Given the description of an element on the screen output the (x, y) to click on. 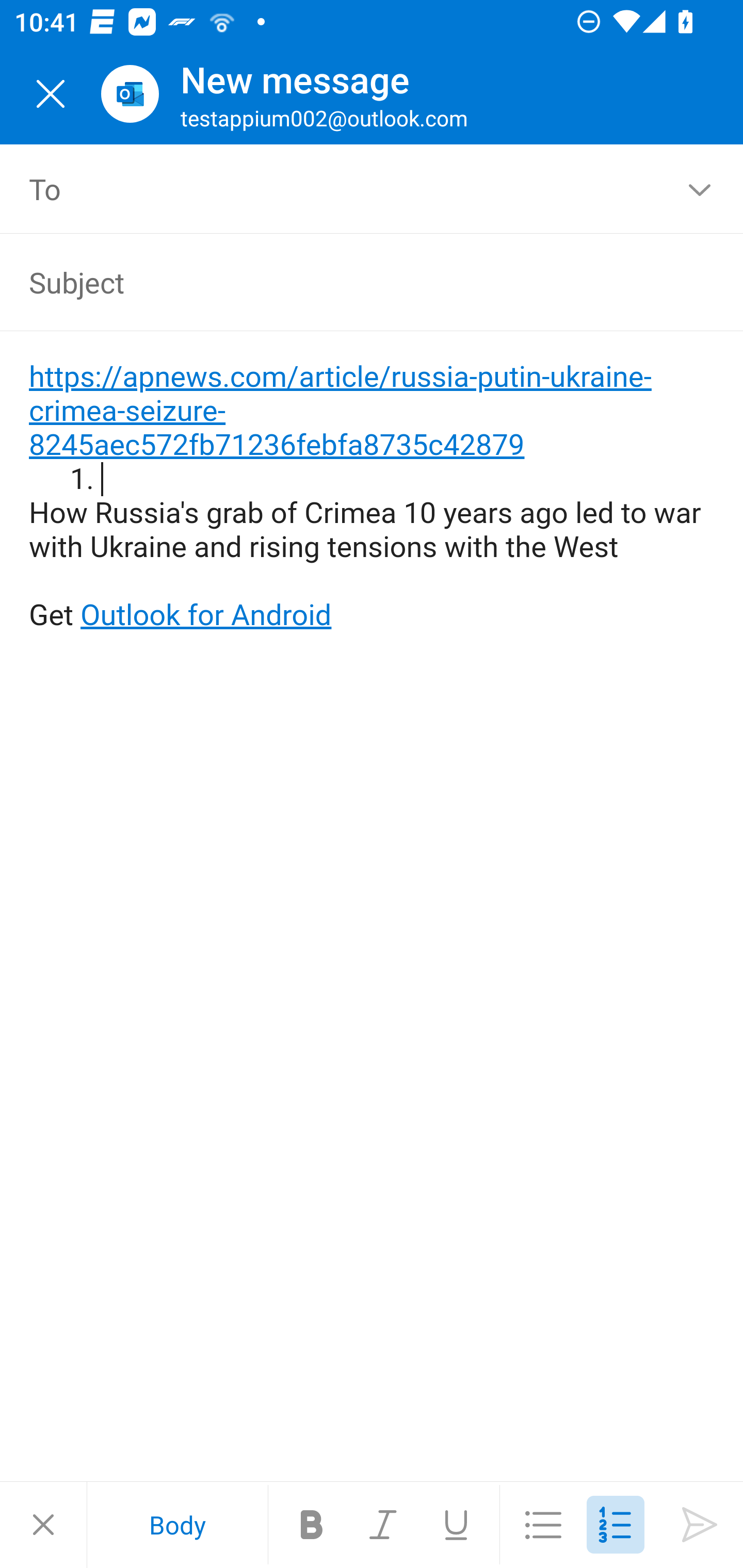
Close (50, 93)
Subject (342, 281)
Close (43, 1524)
Send (699, 1524)
Font style button body Body (176, 1524)
Bold (311, 1524)
Italics (384, 1524)
Underline (456, 1524)
Bulleted list (543, 1524)
Numbered list (615, 1524)
